Given the description of an element on the screen output the (x, y) to click on. 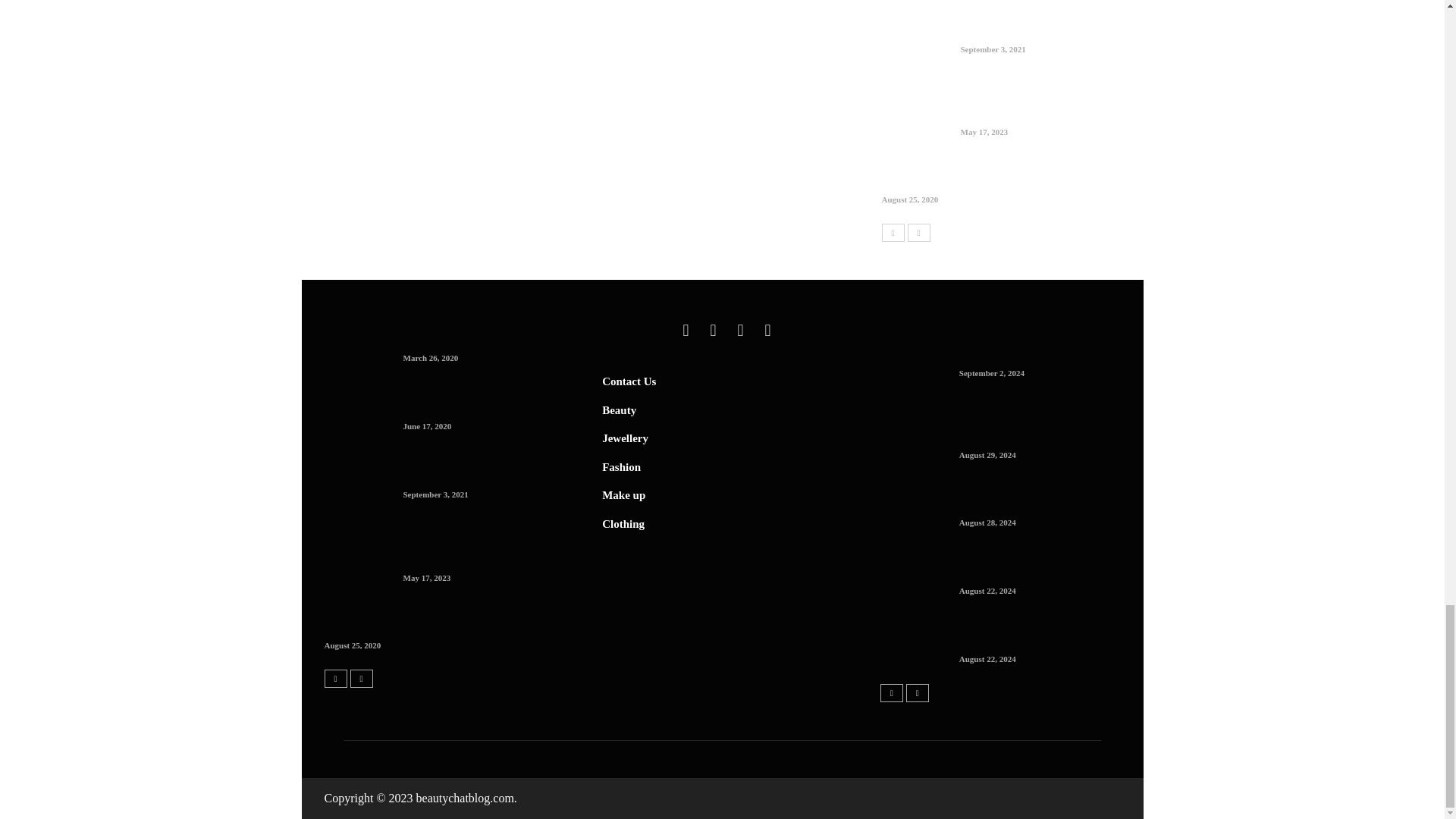
Next (361, 678)
Previous (892, 232)
Next (918, 232)
Previous (335, 678)
Previous (891, 692)
Next (916, 692)
